Given the description of an element on the screen output the (x, y) to click on. 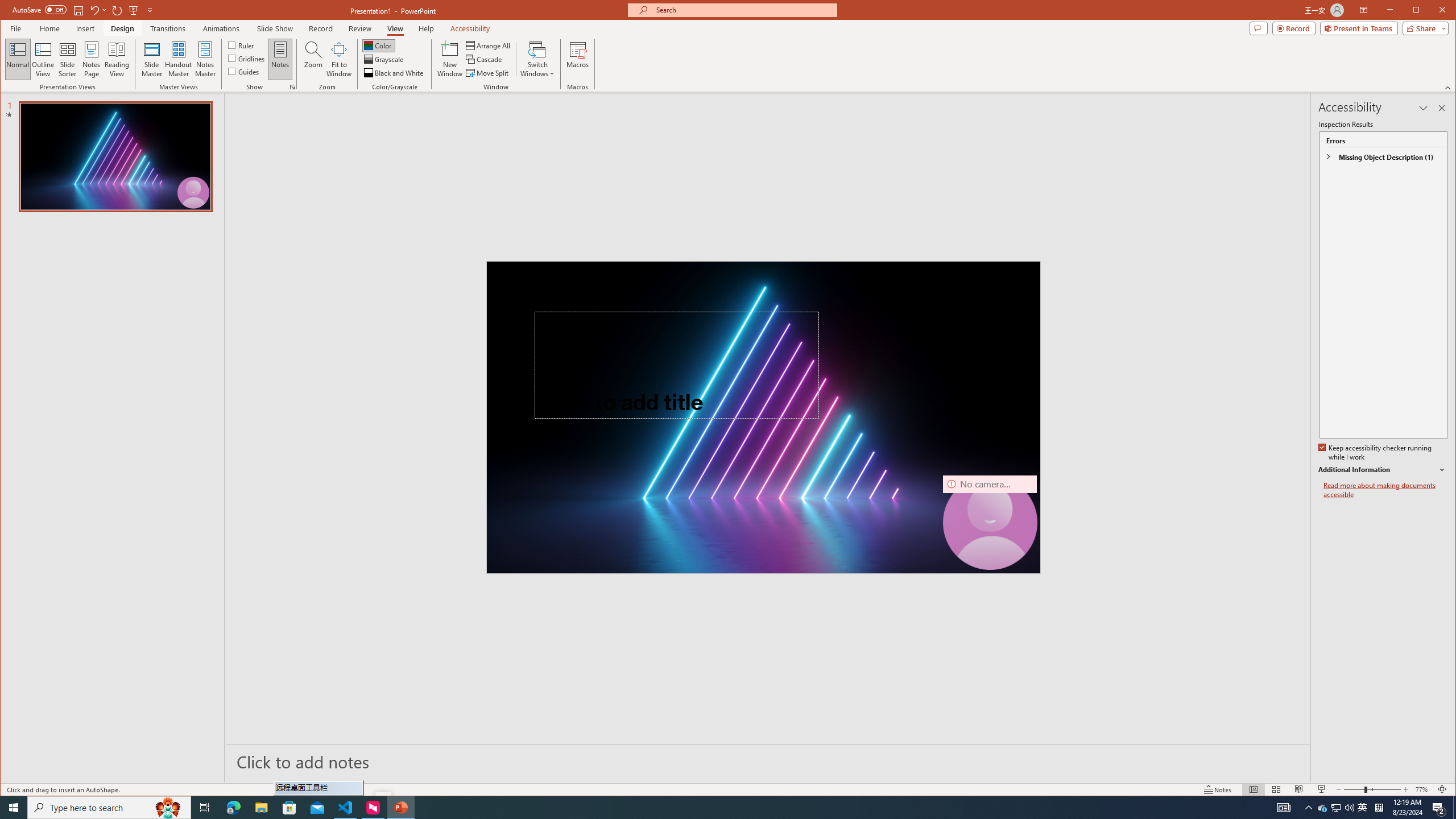
Read more about making documents accessible (1385, 489)
Grayscale (384, 59)
Black and White (394, 72)
New Window (450, 59)
